Given the description of an element on the screen output the (x, y) to click on. 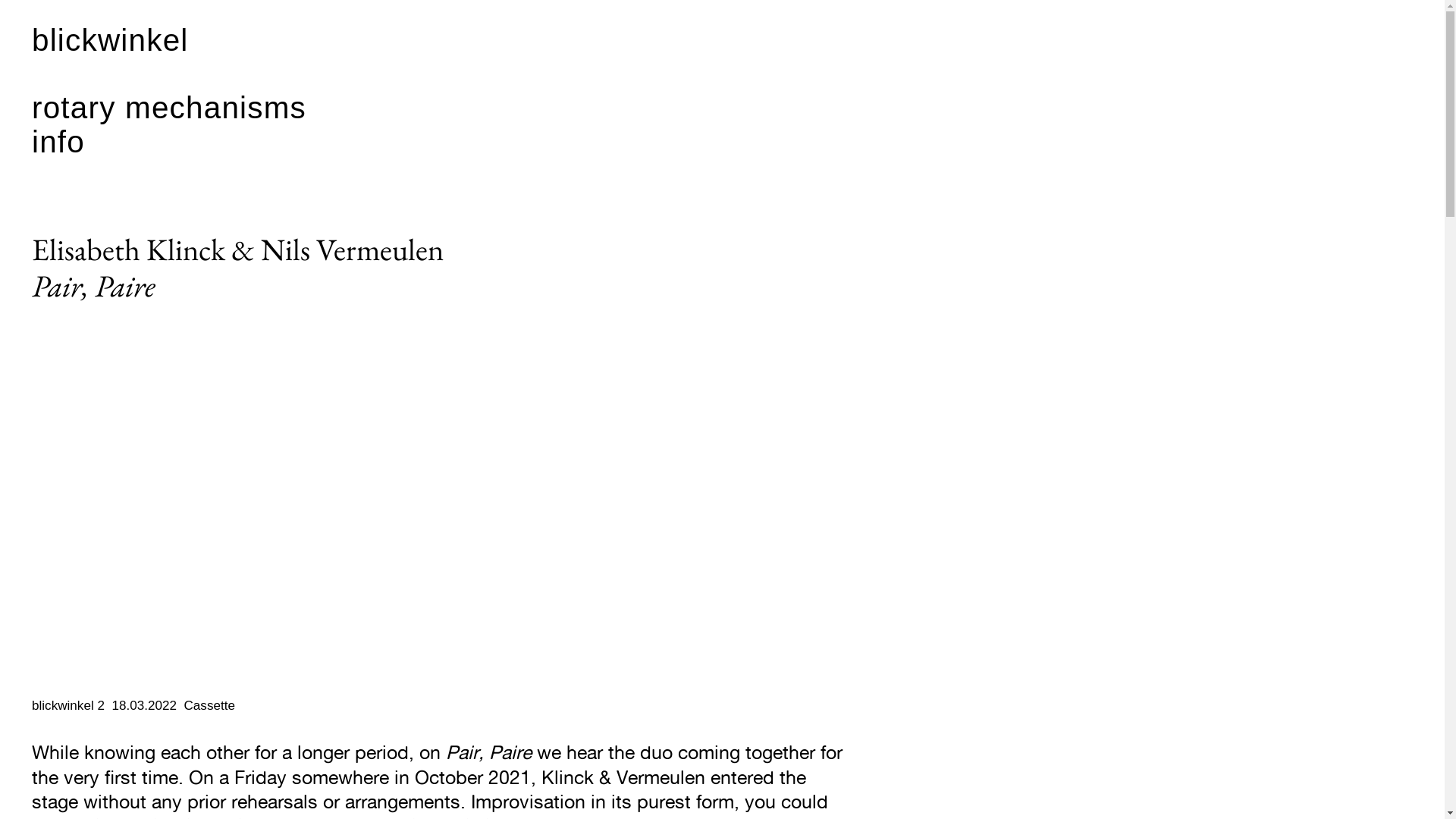
blickwinkel Element type: text (109, 41)
info Element type: text (57, 143)
rotary mechanisms Element type: text (168, 109)
